Given the description of an element on the screen output the (x, y) to click on. 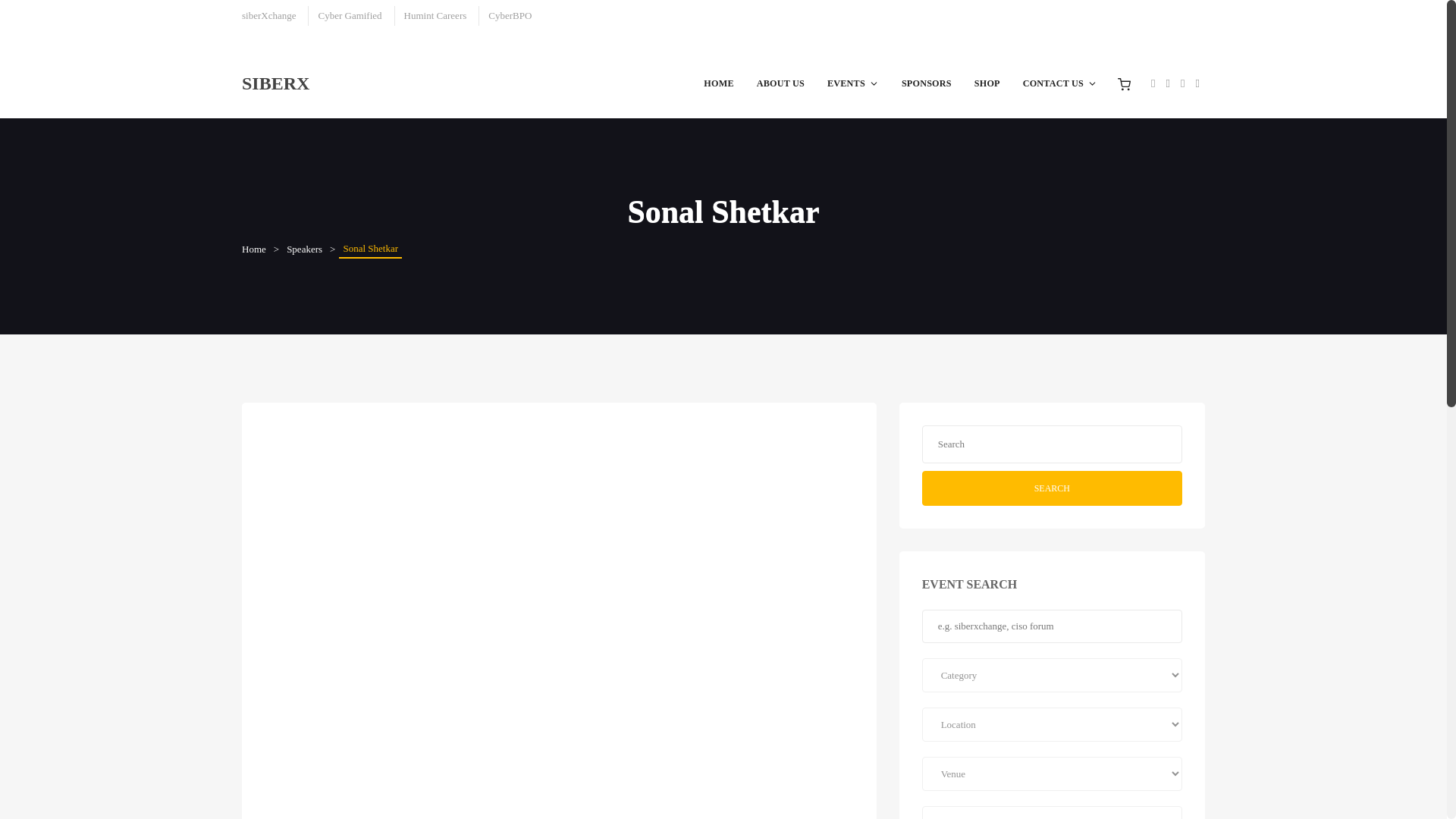
CONTACT US (1059, 83)
siberXchange (268, 15)
Cyber Gamified (349, 15)
Humint Careers (435, 15)
HOME (718, 83)
SHOP (986, 83)
ABOUT US (780, 83)
SIBERX (274, 83)
SPONSORS (925, 83)
EVENTS (852, 83)
CyberBPO (509, 15)
